Given the description of an element on the screen output the (x, y) to click on. 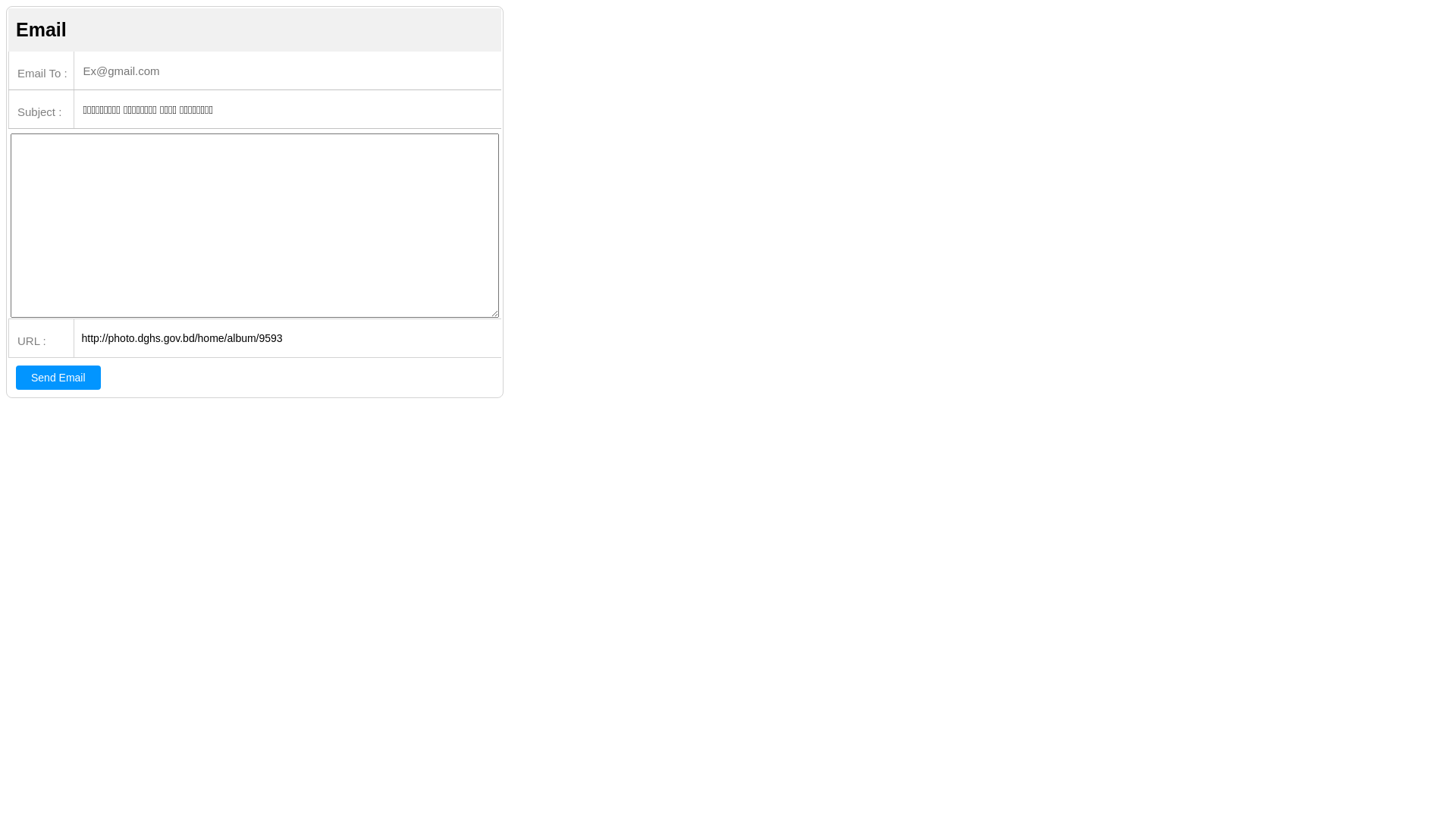
Send Email Element type: text (57, 377)
